Given the description of an element on the screen output the (x, y) to click on. 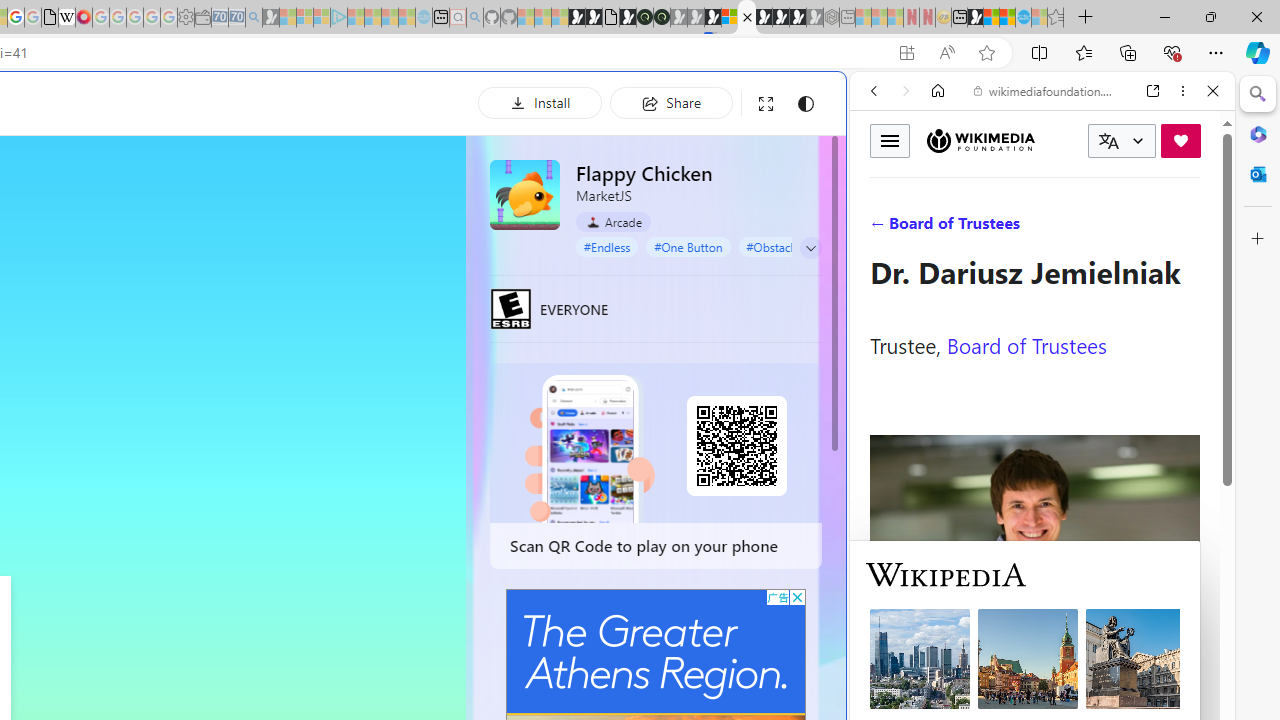
Search Filter, Search Tools (1093, 228)
Play Zoo Boom in your browser | Games from Microsoft Start (593, 17)
WEB   (882, 228)
Services - Maintenance | Sky Blue Bikes - Sky Blue Bikes (1023, 17)
github - Search - Sleeping (474, 17)
Class: control (811, 248)
wikimediafoundation.org (1045, 90)
